Given the description of an element on the screen output the (x, y) to click on. 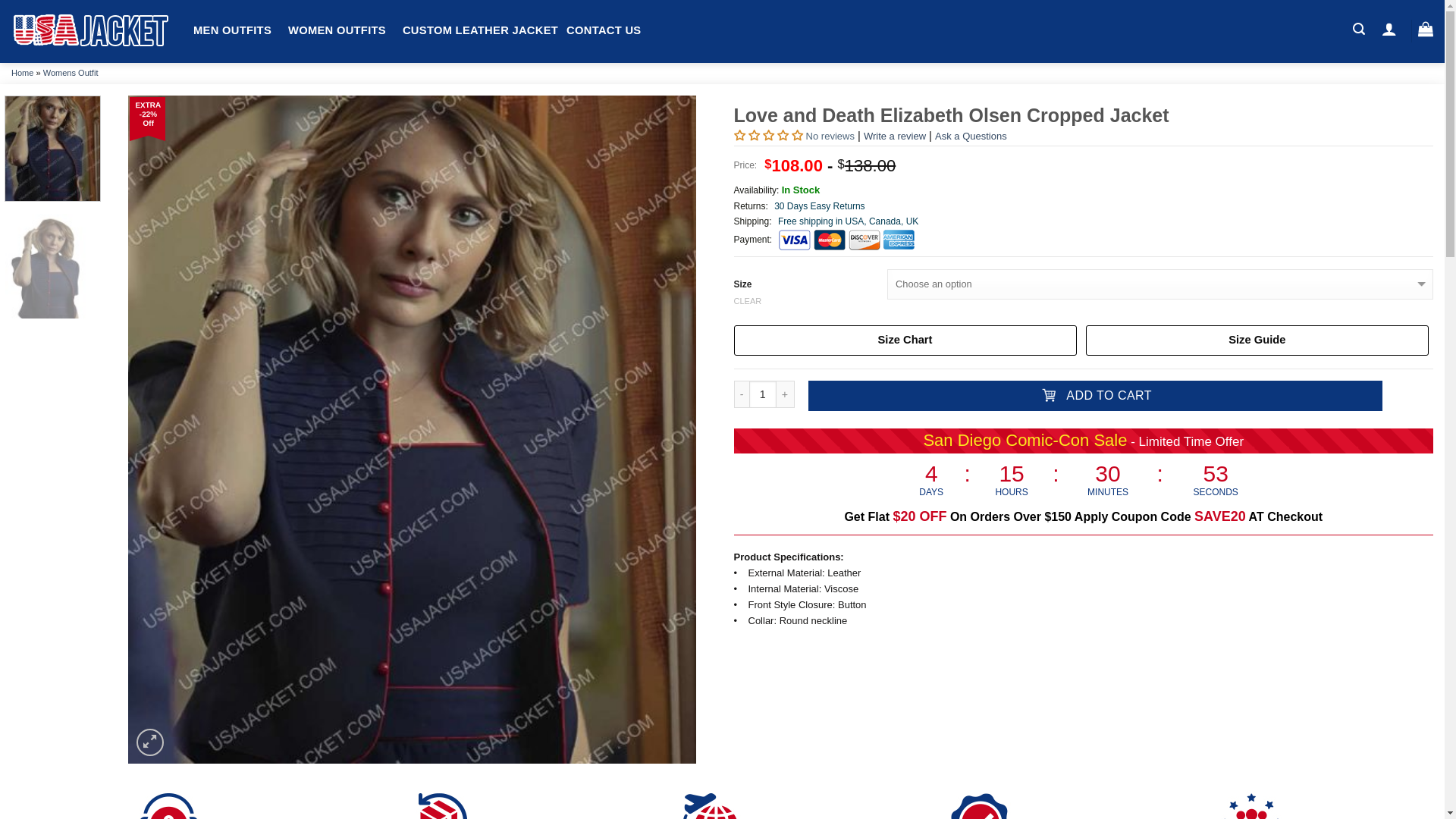
Size Chart (905, 340)
MEN OUTFITS (231, 30)
CONTACT US (603, 30)
Size Guide (1257, 340)
ADD TO CART (1094, 395)
WOMEN OUTFITS (336, 30)
USA Jacket - Wrap Yourself In Jackets (90, 31)
Home (22, 71)
Womens Outfit (71, 71)
Write a review (894, 135)
CUSTOM LEATHER JACKET (480, 30)
Ask a Questions (970, 135)
Qty (762, 393)
CLEAR (1083, 300)
